Given the description of an element on the screen output the (x, y) to click on. 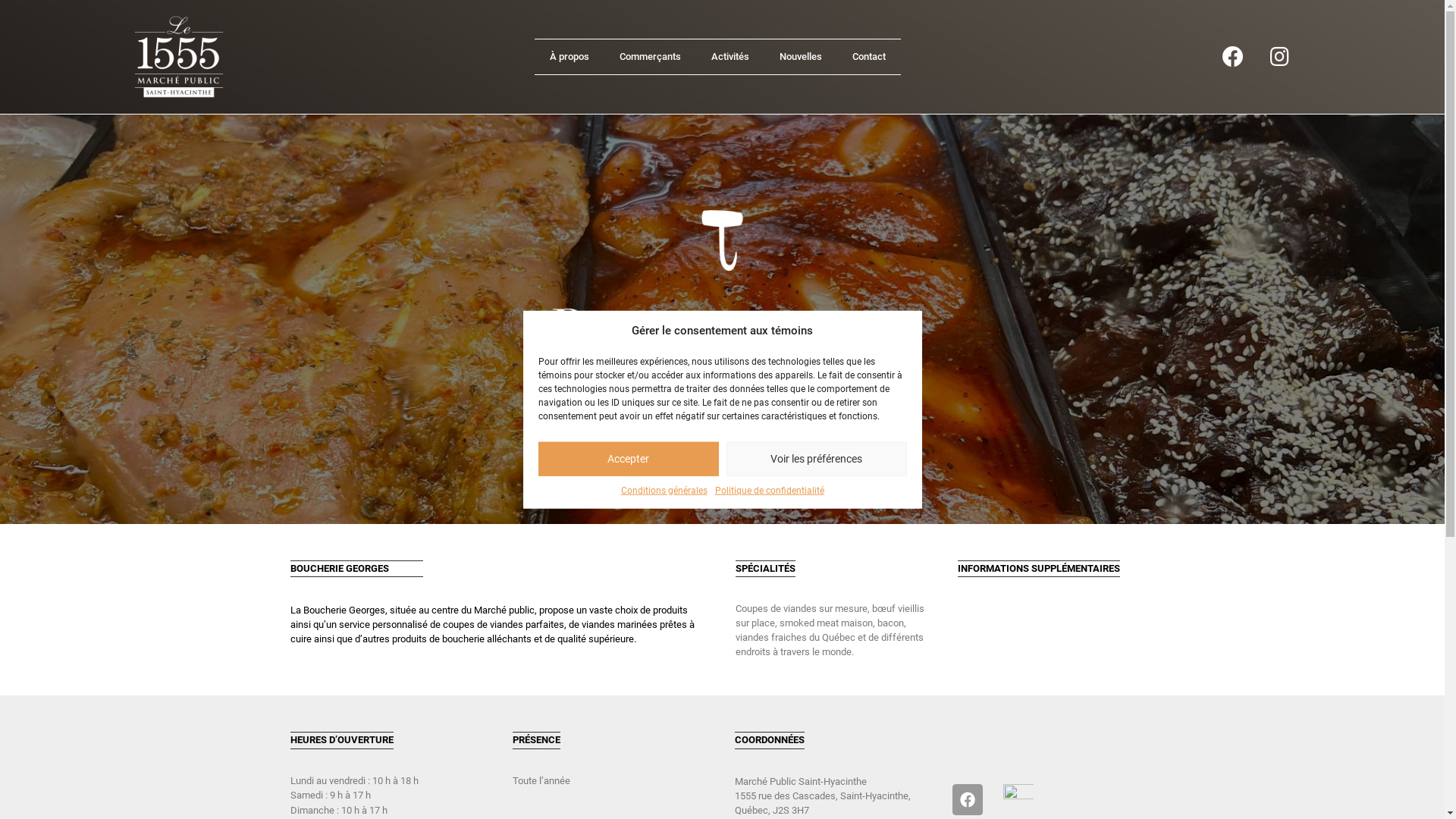
Accepter Element type: text (628, 458)
Contact Element type: text (868, 56)
Nouvelles Element type: text (800, 56)
